Given the description of an element on the screen output the (x, y) to click on. 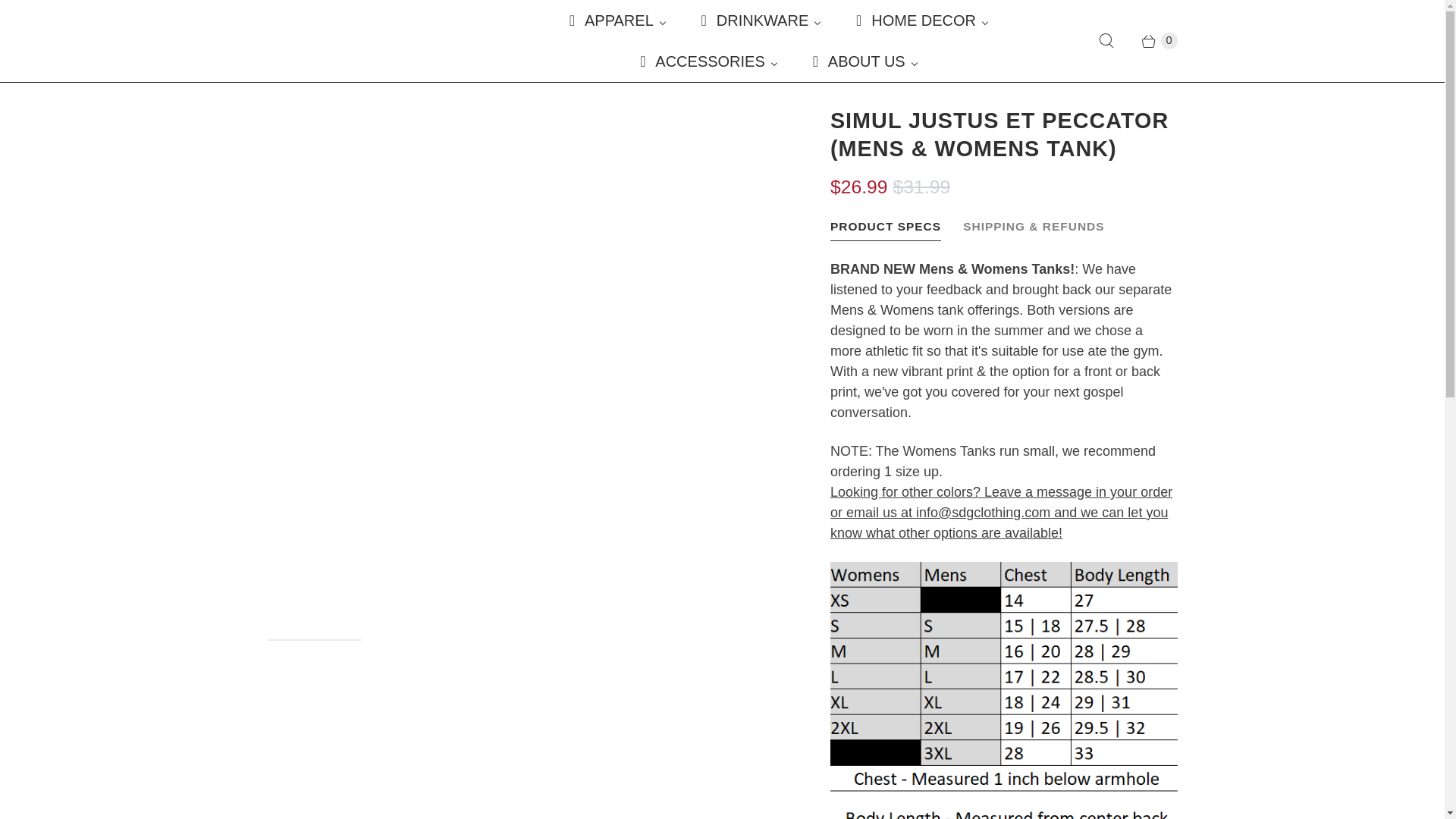
ACCESSORIES (707, 60)
DRINKWARE (759, 20)
HOME DECOR (920, 20)
ABOUT US (863, 60)
APPAREL (616, 20)
